Given the description of an element on the screen output the (x, y) to click on. 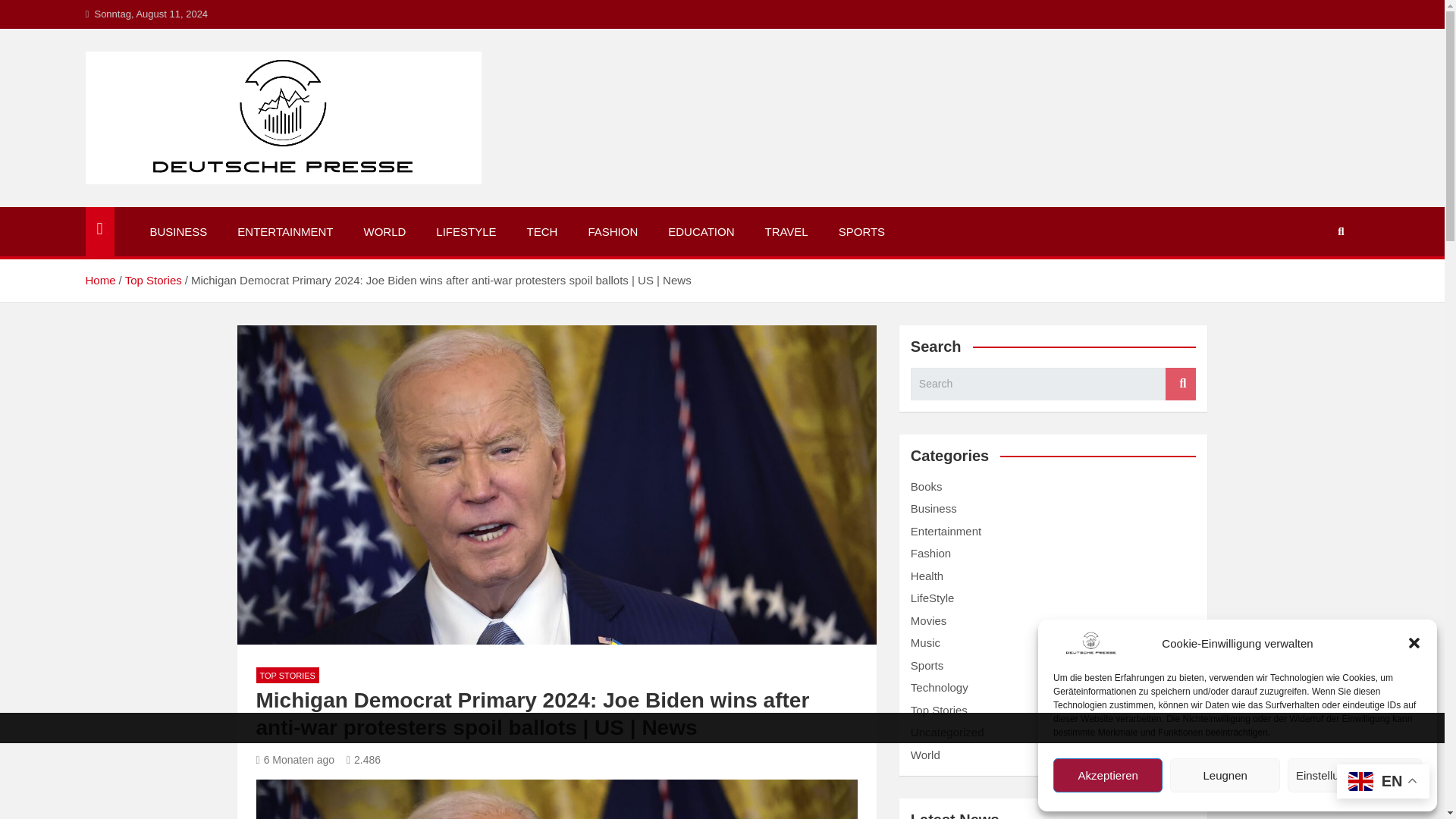
TECH (542, 232)
EDUCATION (700, 232)
6 Monaten ago (295, 759)
Akzeptieren (1106, 775)
ENTERTAINMENT (284, 232)
LIFESTYLE (465, 232)
BUSINESS (178, 232)
SPORTS (861, 232)
TRAVEL (785, 232)
2.486 (363, 759)
